Given the description of an element on the screen output the (x, y) to click on. 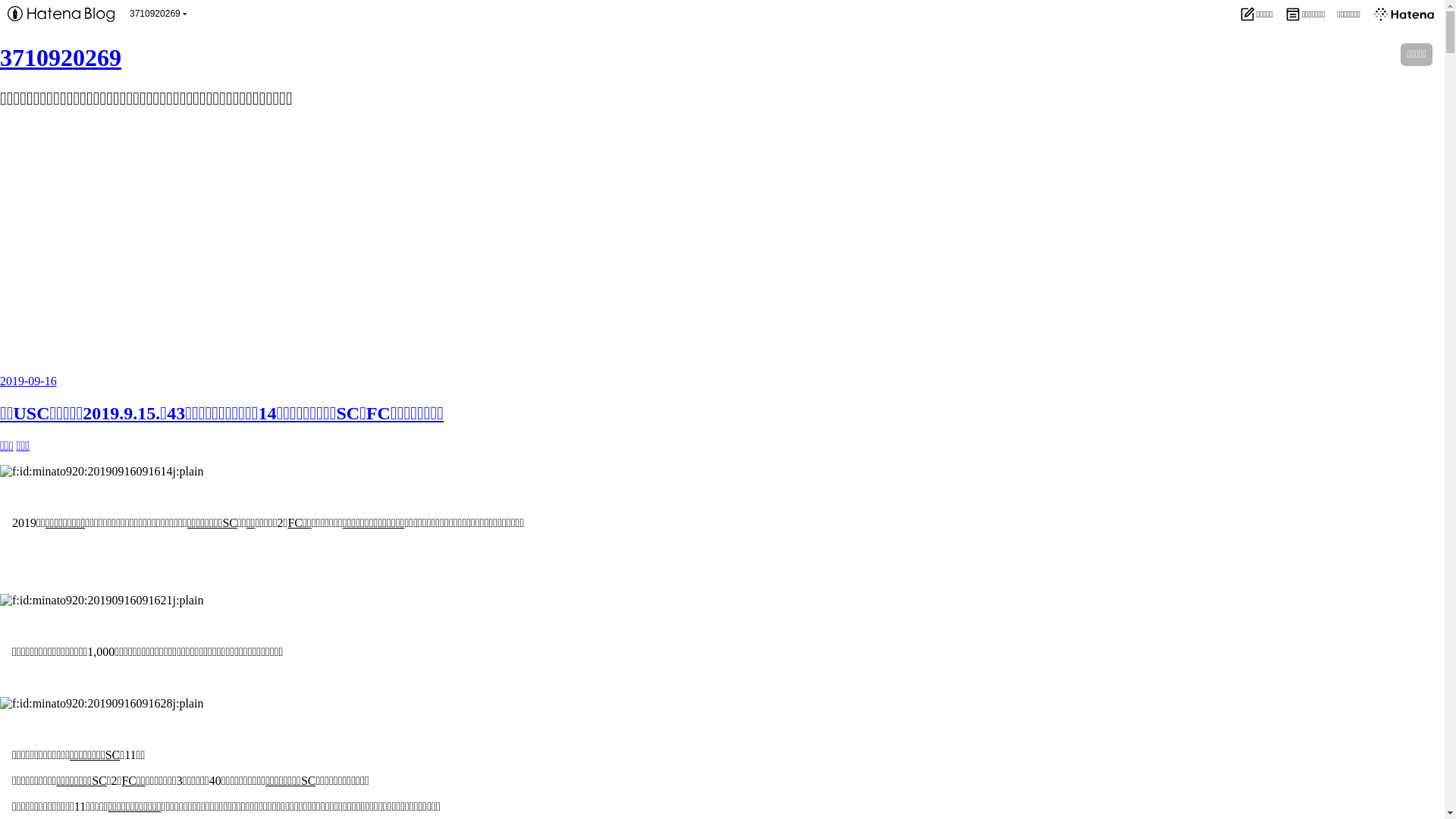
3710920269 Element type: text (60, 57)
f:id:minato920:20190916091614j:plain Element type: hover (101, 471)
f:id:minato920:20190916091621j:plain Element type: hover (101, 600)
2019-09-16 Element type: text (28, 380)
Advertisement Element type: hover (721, 230)
f:id:minato920:20190916091628j:plain Element type: hover (101, 703)
